Given the description of an element on the screen output the (x, y) to click on. 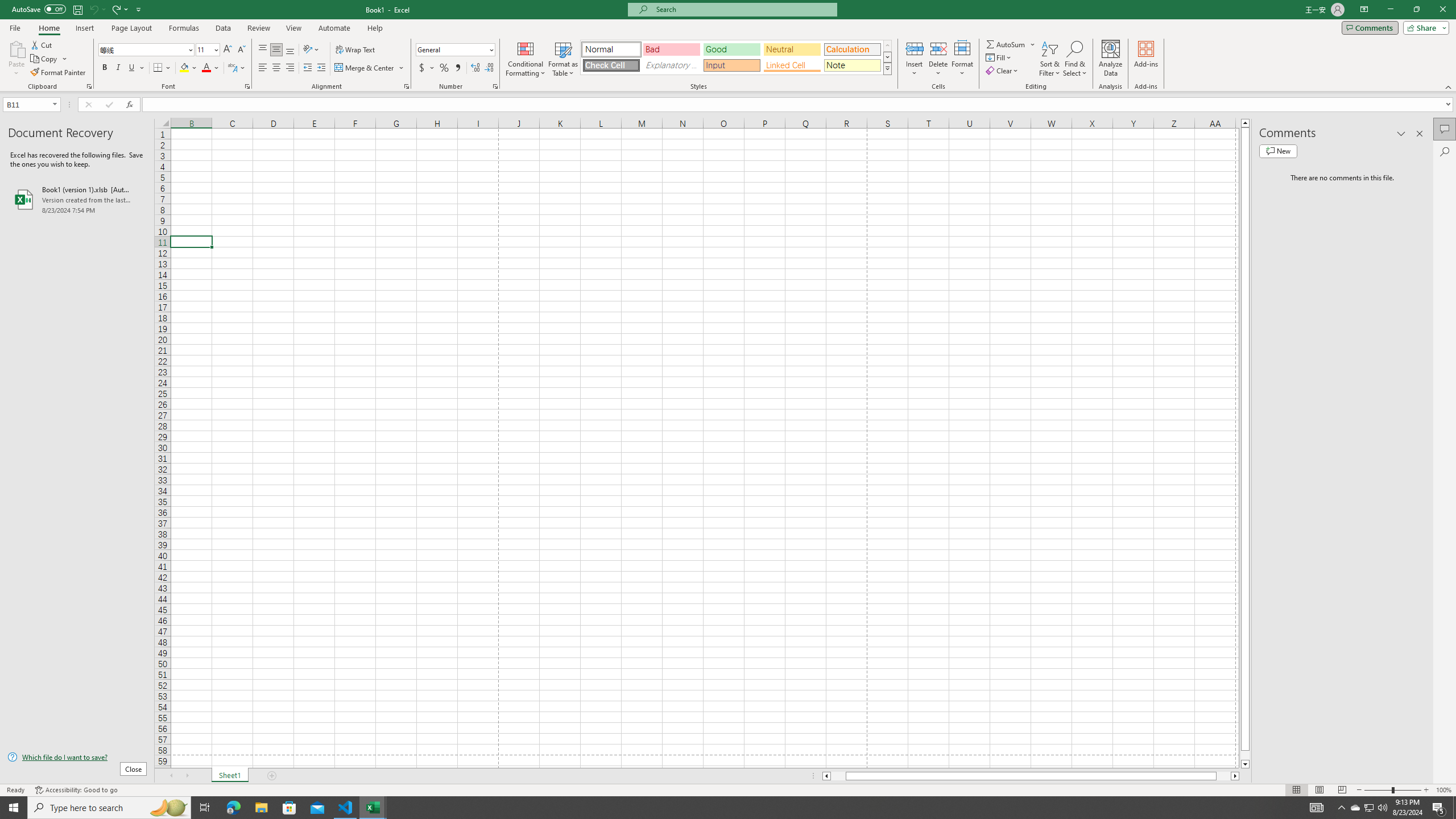
Show Phonetic Field (231, 67)
Merge & Center (365, 67)
Underline (131, 67)
Increase Indent (320, 67)
Decrease Font Size (240, 49)
Delete Cells... (938, 48)
Align Left (262, 67)
Good (731, 49)
Row up (887, 45)
AutomationID: CellStylesGallery (736, 57)
Top Align (262, 49)
